Given the description of an element on the screen output the (x, y) to click on. 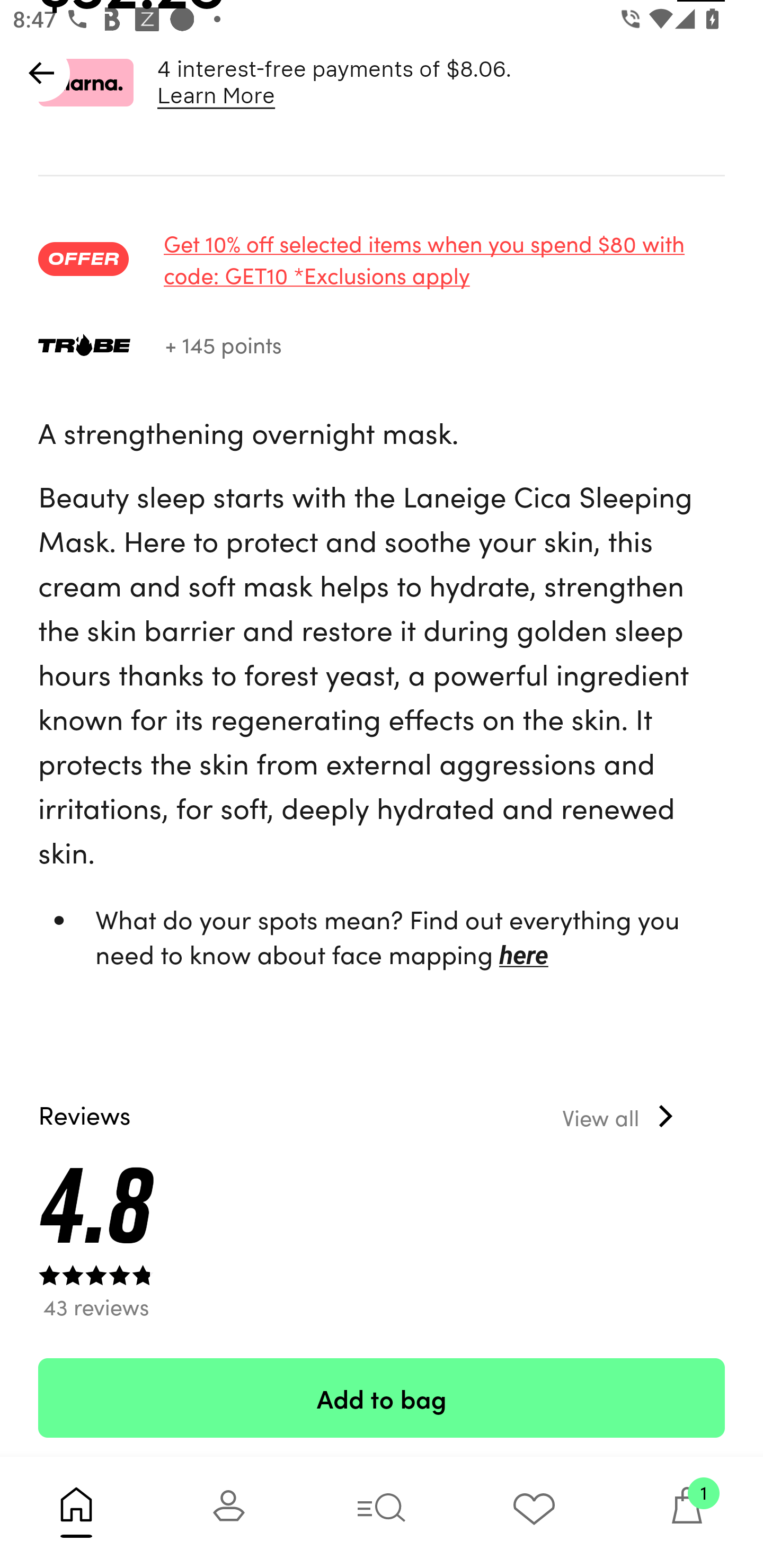
Add to bag (381, 1397)
1 (686, 1512)
